Given the description of an element on the screen output the (x, y) to click on. 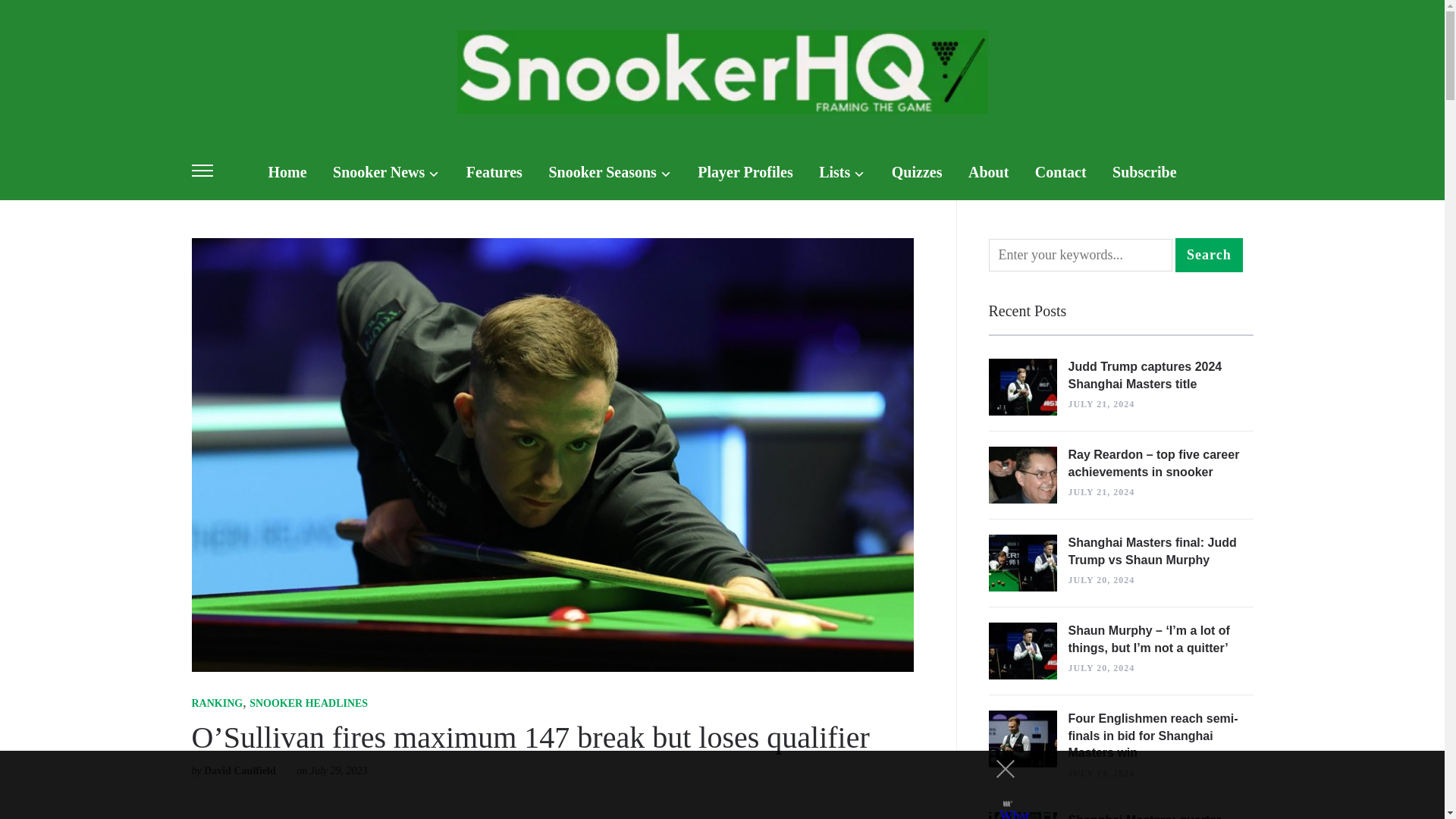
Search (1208, 254)
Posts by David Caulfield (239, 771)
Search (1208, 254)
